Given the description of an element on the screen output the (x, y) to click on. 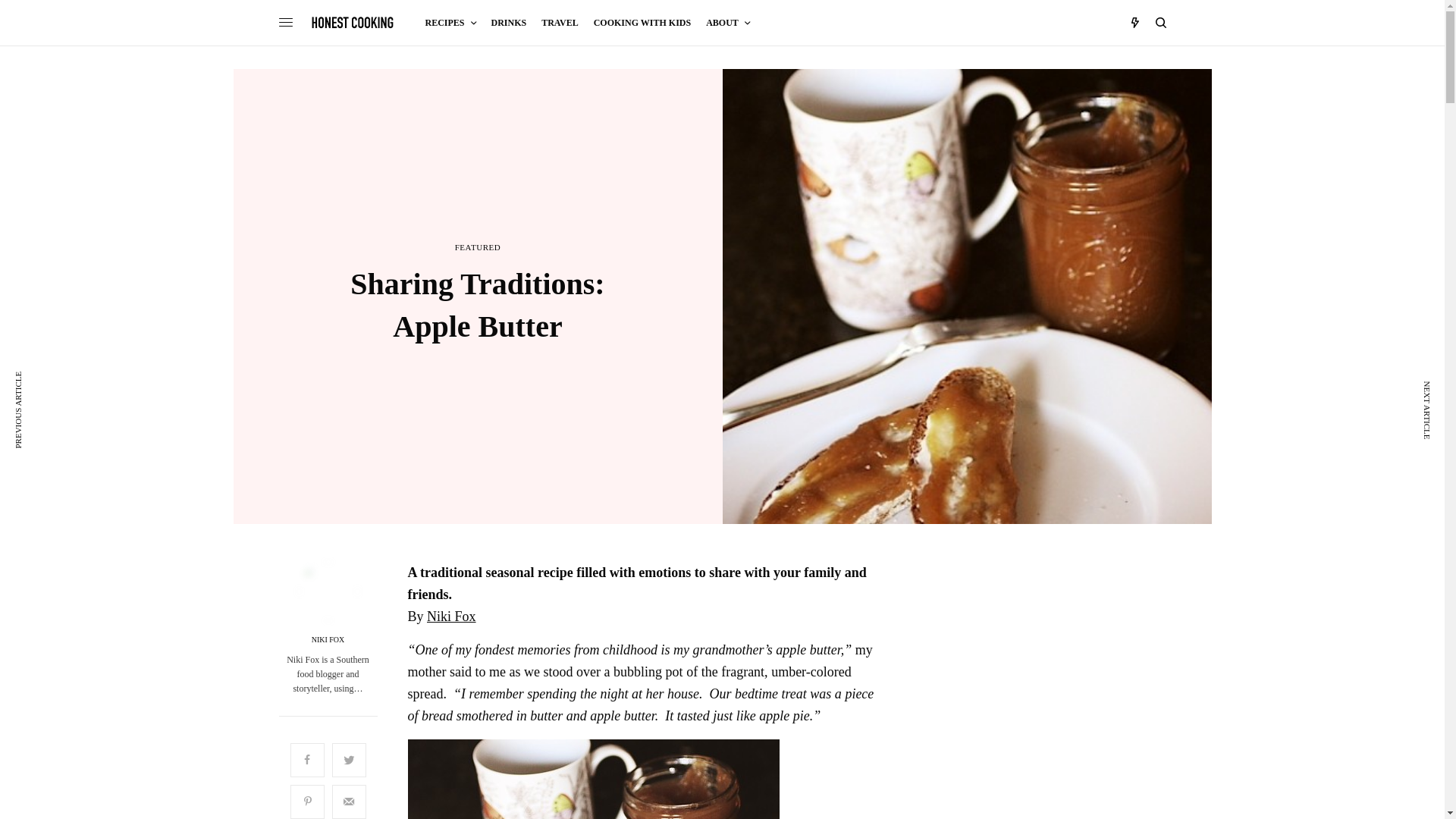
RECIPES (450, 22)
FEATURED (477, 247)
NIKI FOX (328, 639)
Honest Cooking (352, 22)
COOKING WITH KIDS (642, 22)
ABOUT (727, 22)
